Given the description of an element on the screen output the (x, y) to click on. 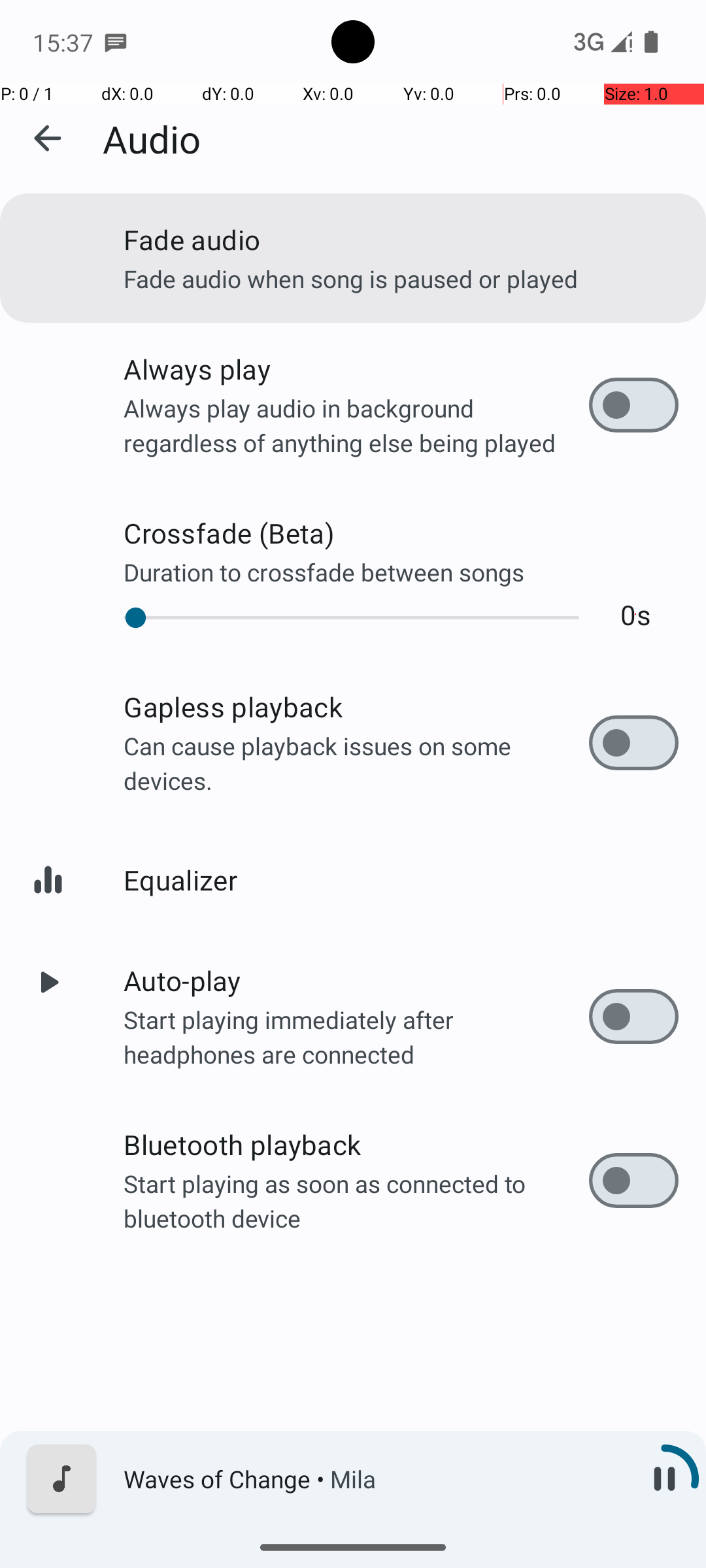
Waves of Change • Mila Element type: android.widget.TextView (372, 1478)
Fade audio Element type: android.widget.TextView (400, 239)
Fade audio when song is paused or played Element type: android.widget.TextView (400, 278)
Always play Element type: android.widget.TextView (355, 368)
Always play audio in background regardless of anything else being played Element type: android.widget.TextView (355, 424)
Crossfade (Beta) Element type: android.widget.TextView (400, 532)
Duration to crossfade between songs Element type: android.widget.TextView (400, 571)
0s Element type: android.widget.TextView (635, 614)
Gapless playback Element type: android.widget.TextView (355, 706)
Can cause playback issues on some devices. Element type: android.widget.TextView (355, 762)
Equalizer Element type: android.widget.TextView (400, 879)
Auto-play Element type: android.widget.TextView (355, 979)
Start playing immediately after headphones are connected Element type: android.widget.TextView (355, 1036)
Bluetooth playback Element type: android.widget.TextView (355, 1143)
Start playing as soon as connected to bluetooth device Element type: android.widget.TextView (355, 1200)
15:37 Element type: android.widget.TextView (64, 41)
